Given the description of an element on the screen output the (x, y) to click on. 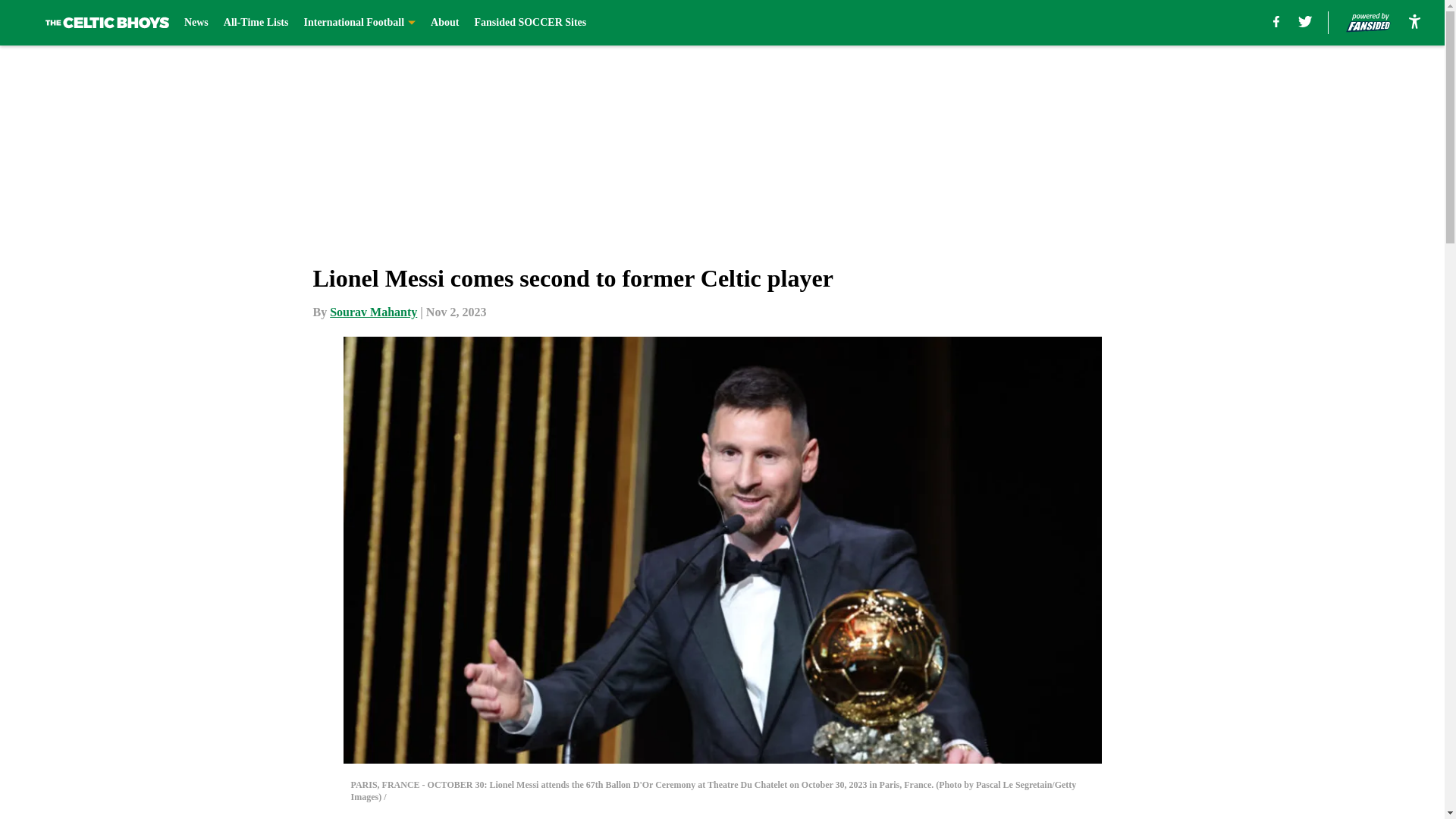
All-Time Lists (256, 22)
Fansided SOCCER Sites (530, 22)
About (444, 22)
News (196, 22)
Sourav Mahanty (373, 311)
